Given the description of an element on the screen output the (x, y) to click on. 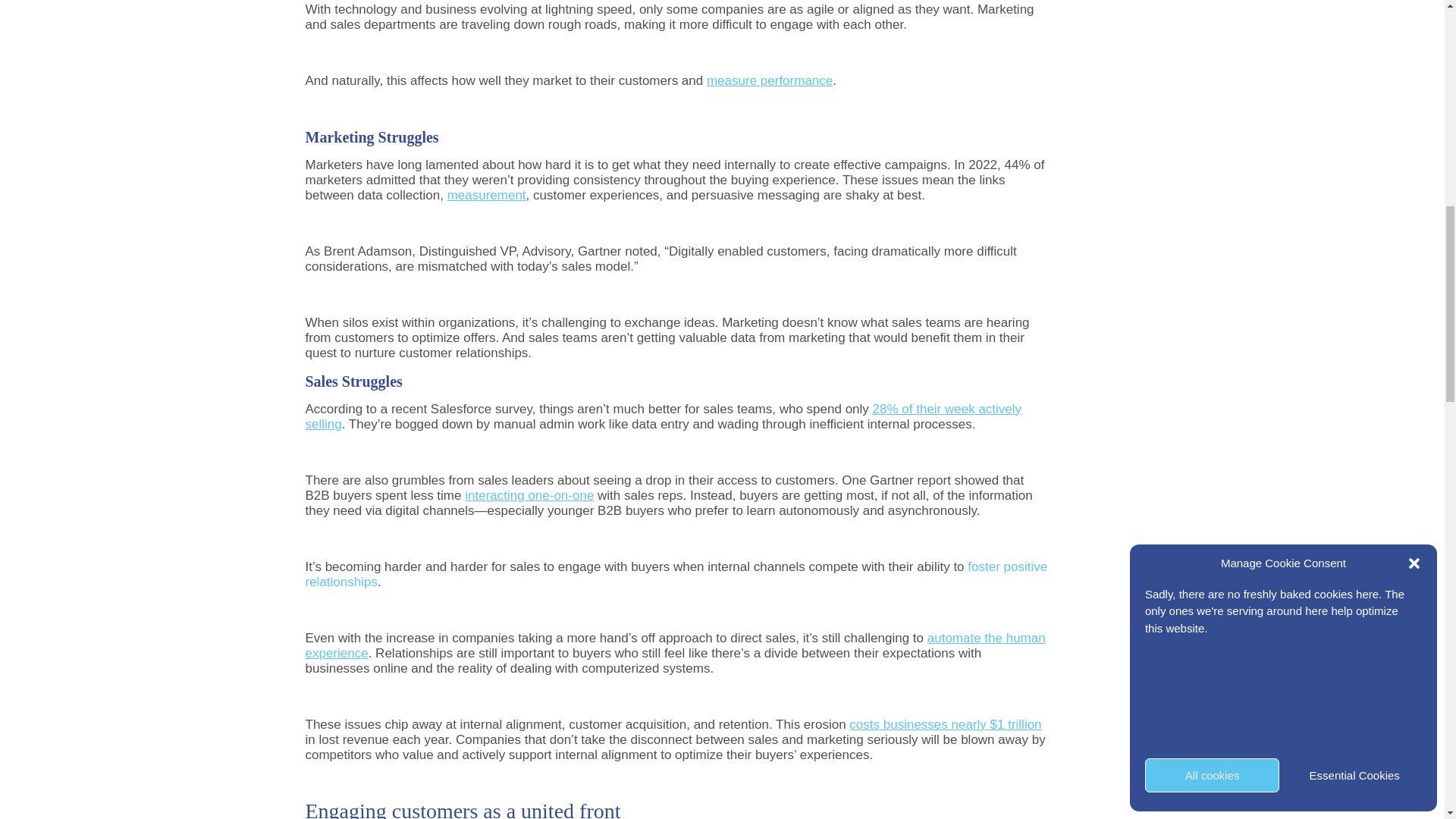
foster positive relationships (675, 573)
interacting one-on-one (529, 495)
measurement (485, 195)
automate the human experience (674, 645)
measure performance (769, 80)
